Given the description of an element on the screen output the (x, y) to click on. 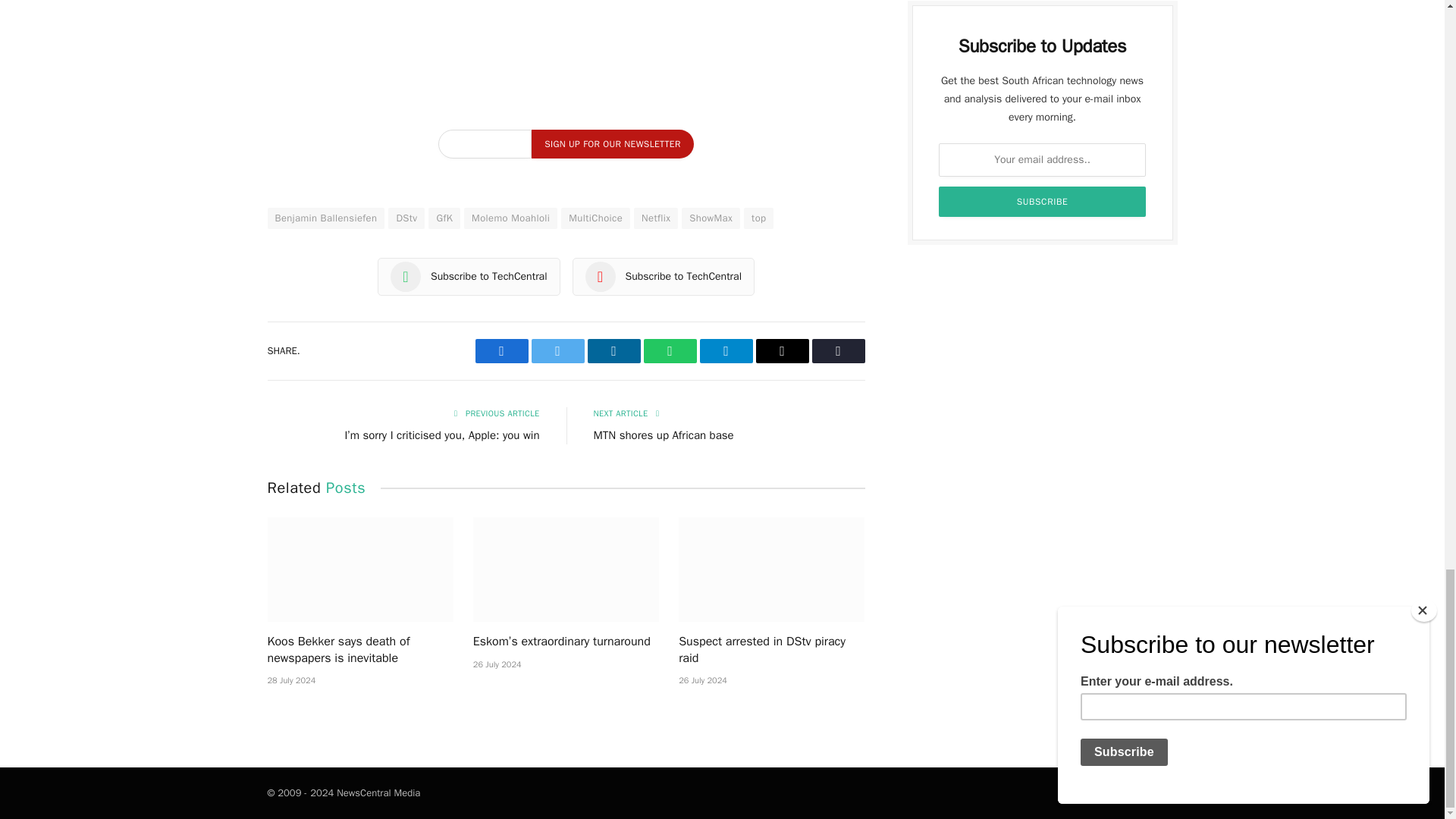
Sign up for our newsletter (612, 143)
Subscribe (1043, 201)
